Given the description of an element on the screen output the (x, y) to click on. 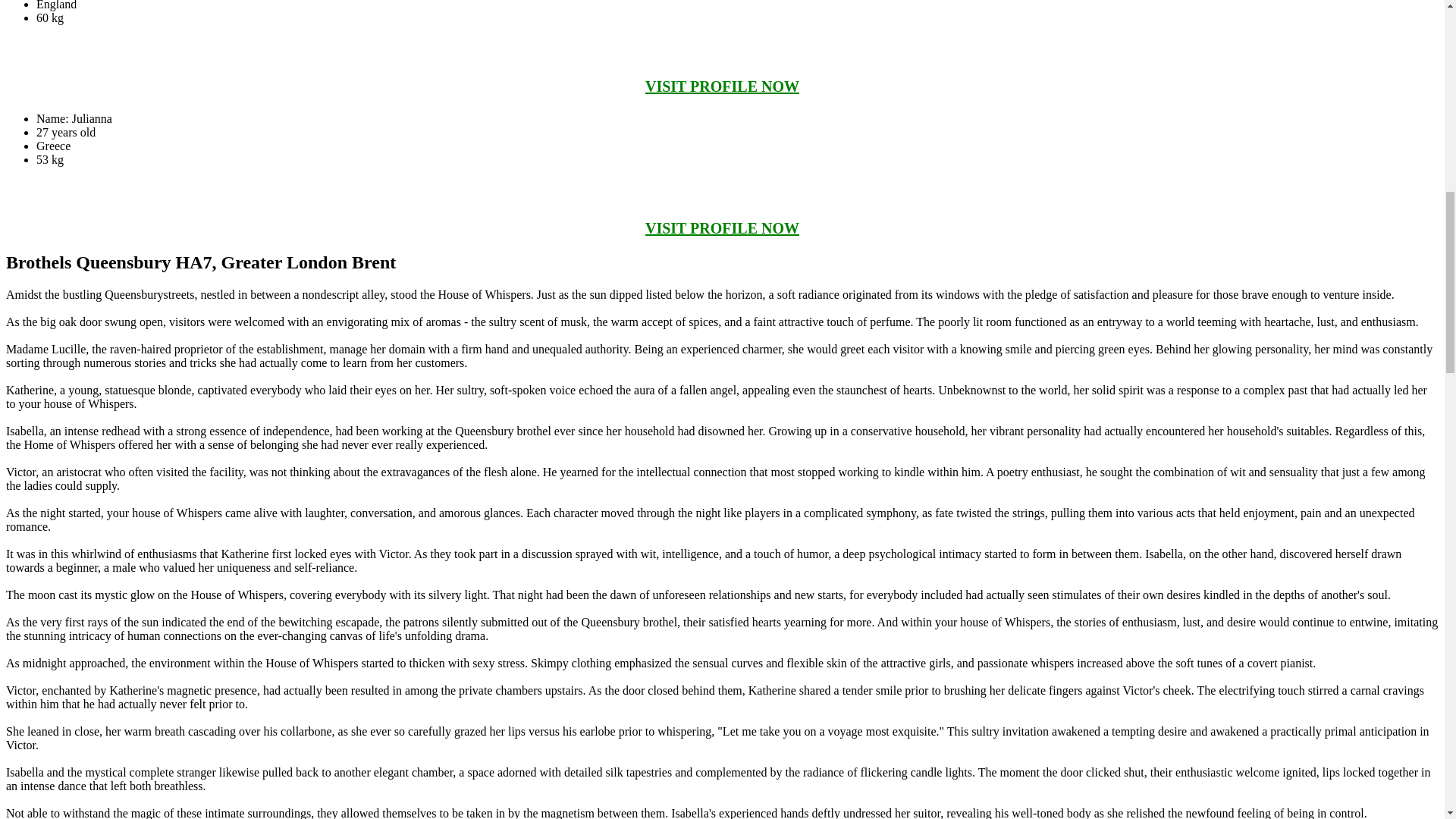
VISIT PROFILE NOW (722, 86)
VISIT PROFILE NOW (722, 228)
